Given the description of an element on the screen output the (x, y) to click on. 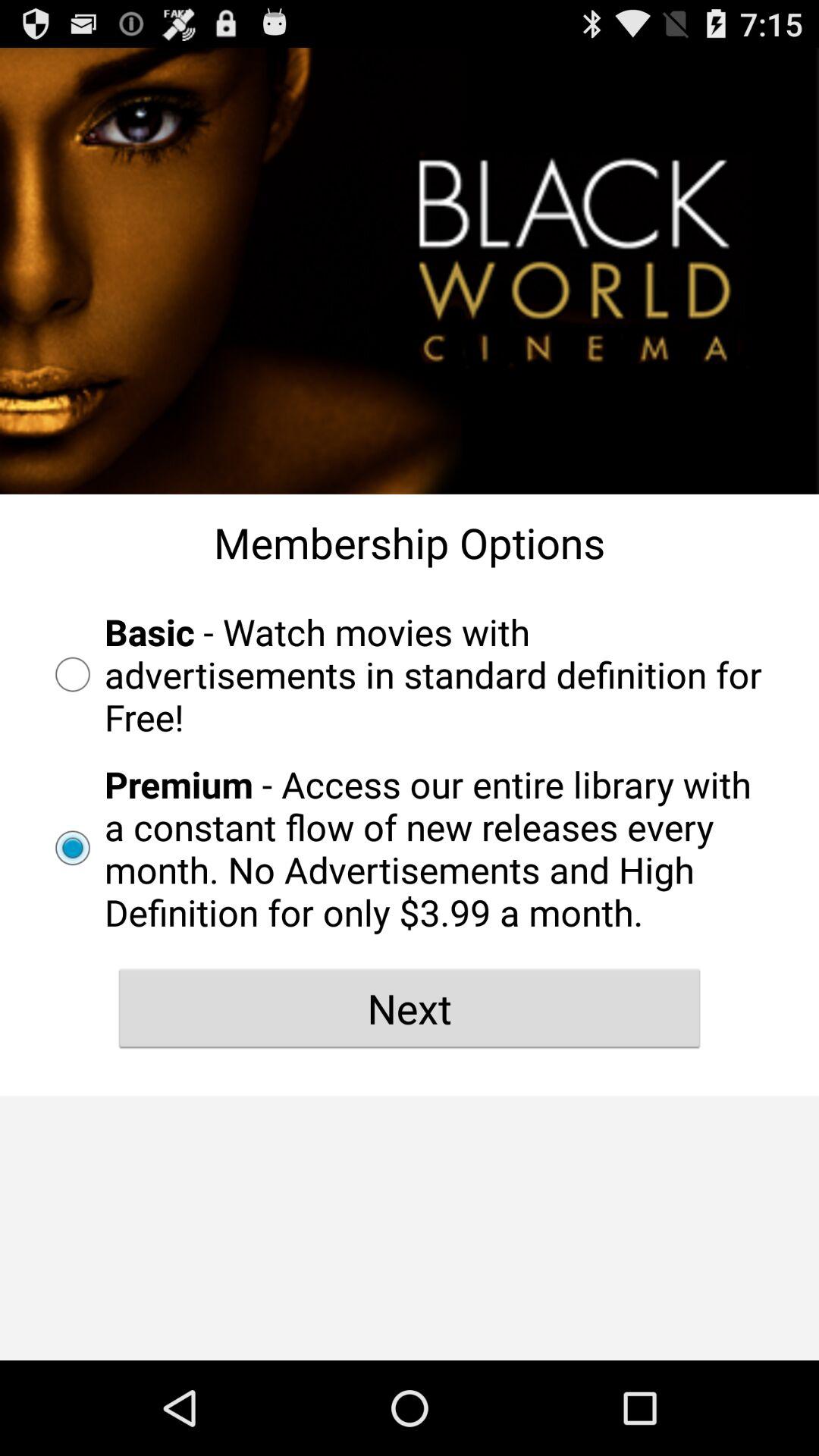
jump to next item (409, 1008)
